Given the description of an element on the screen output the (x, y) to click on. 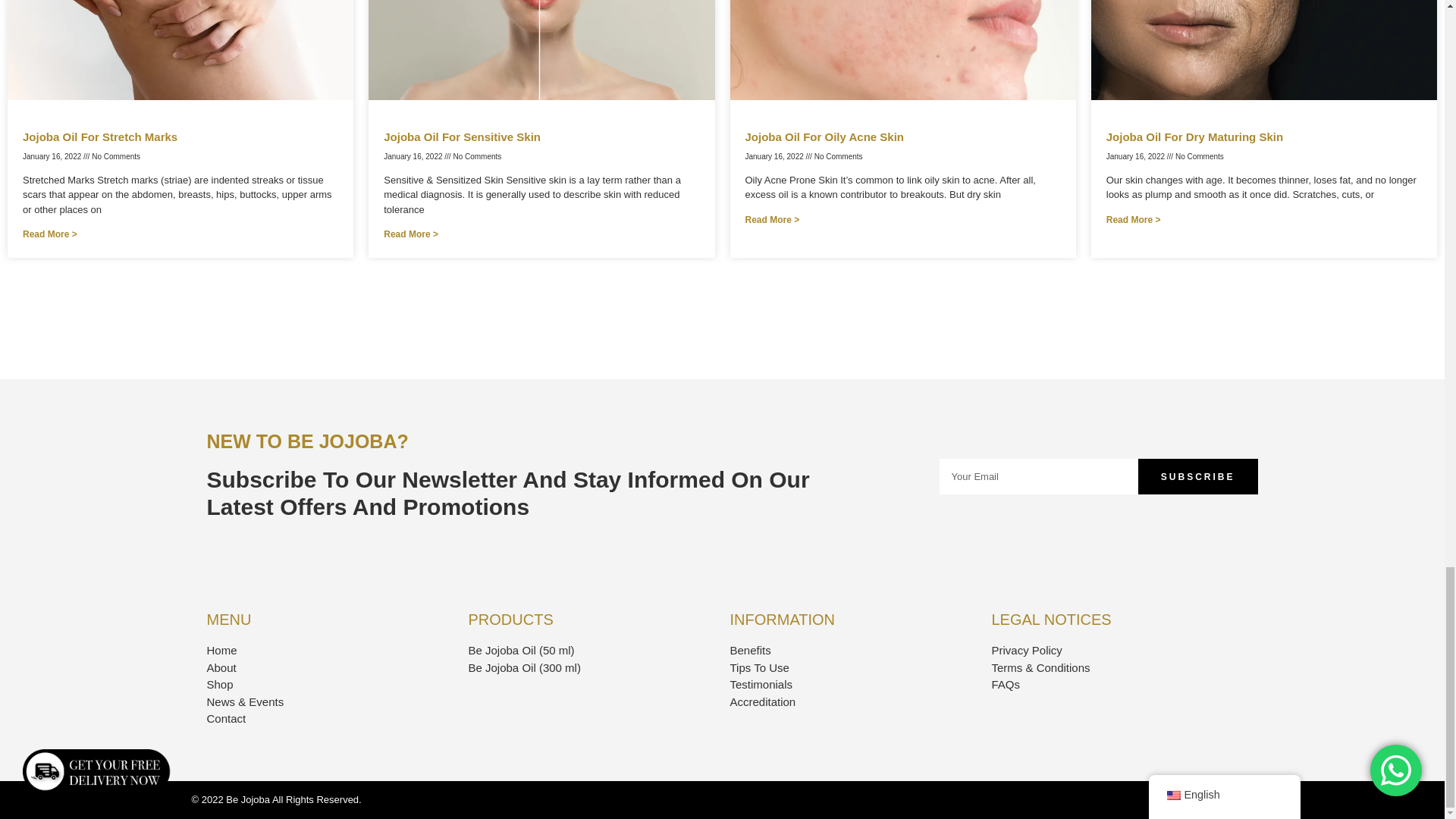
Jojoba Oil For Stretch Marks (100, 136)
Jojoba Oil For Sensitive Skin (462, 136)
